Given the description of an element on the screen output the (x, y) to click on. 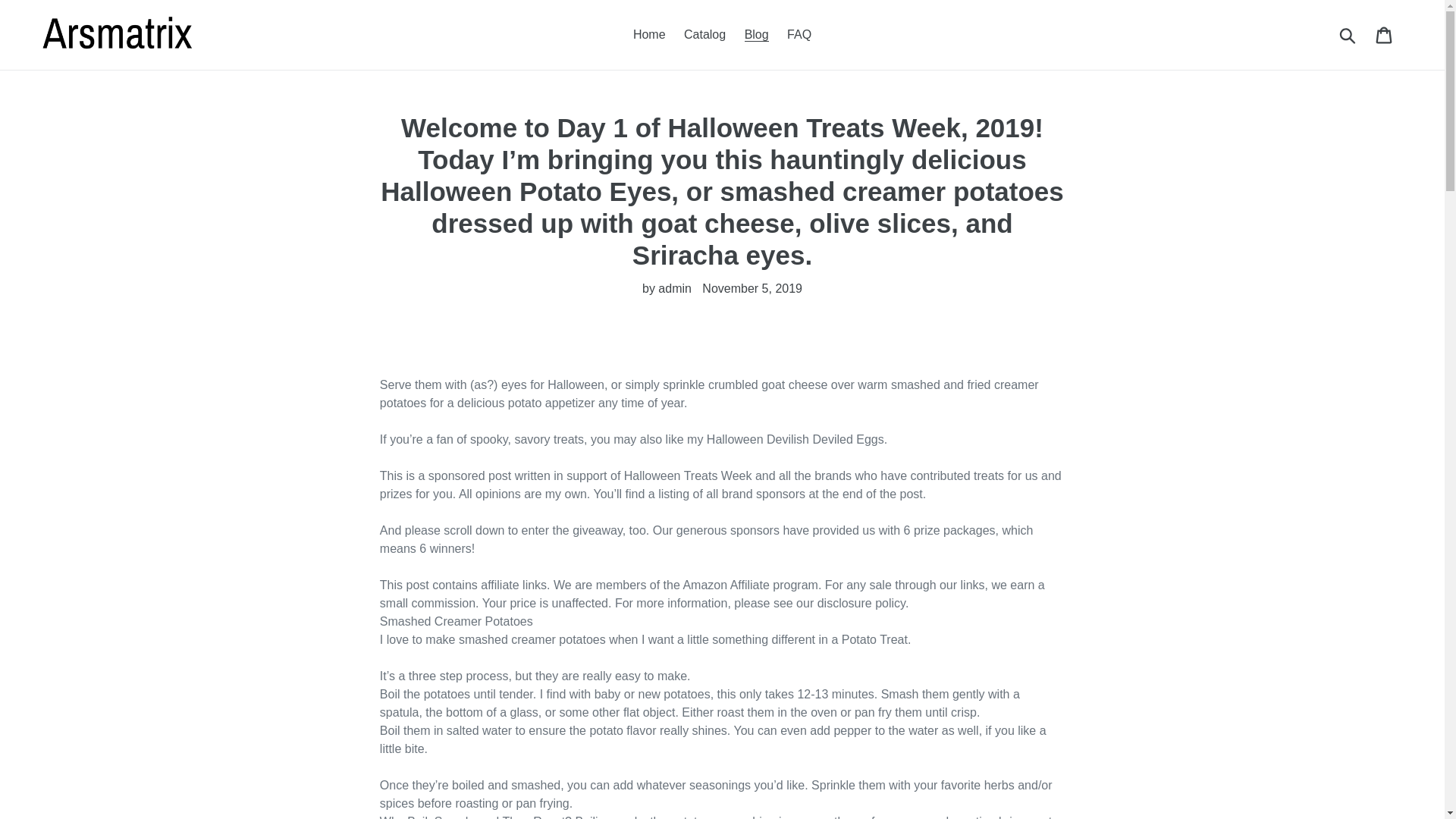
Submit (1348, 34)
FAQ (798, 34)
Blog (756, 34)
Catalog (705, 34)
Home (649, 34)
Cart (1385, 34)
